Given the description of an element on the screen output the (x, y) to click on. 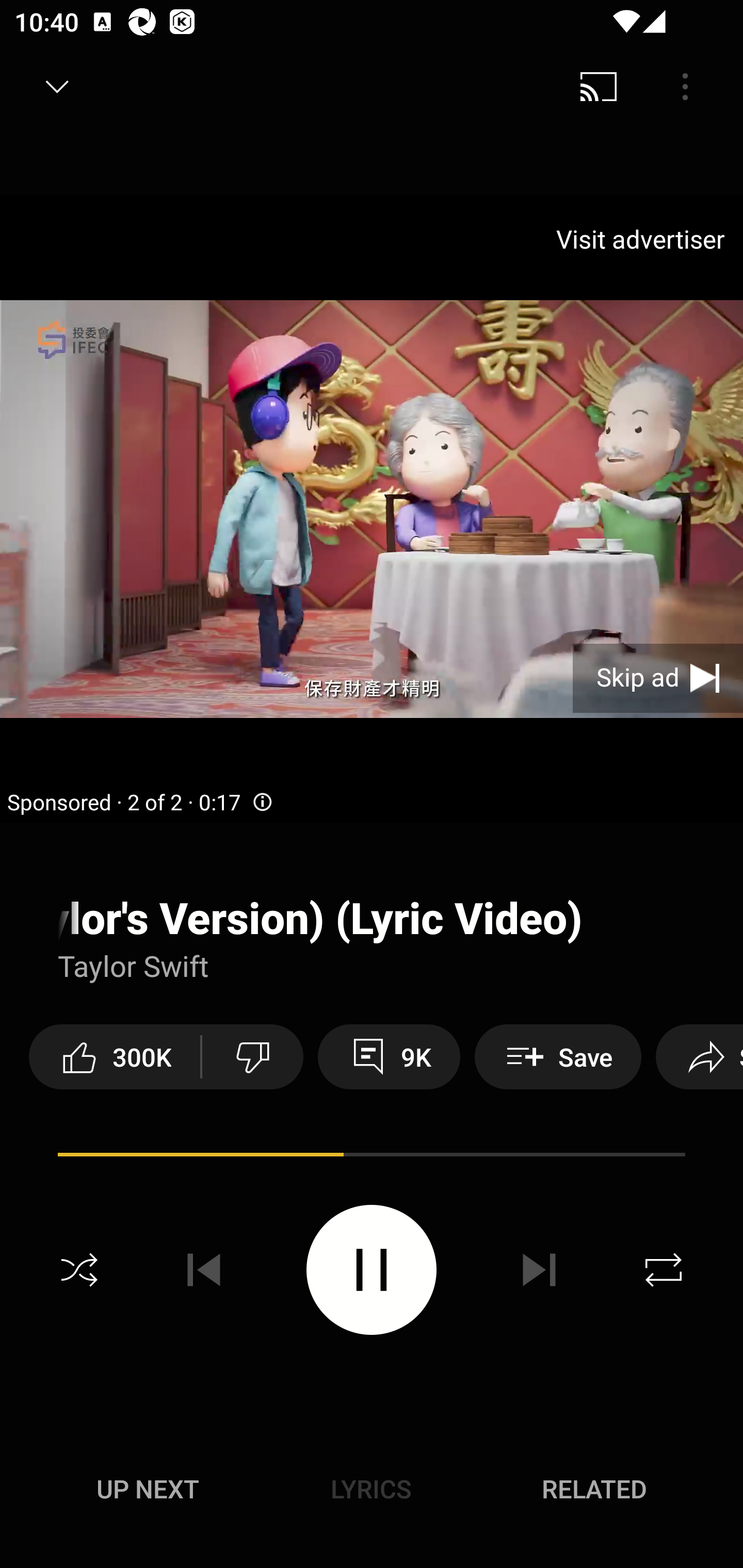
Minimize (57, 86)
Cast. Disconnected (598, 86)
Search (692, 86)
Visit advertiser (644, 239)
Skip ad (657, 678)
Sponsored · 2 of 2 · 0:17 (140, 802)
Dislike (252, 1056)
9K View 9,027 comments (388, 1056)
Save Save to playlist (557, 1056)
Share (699, 1056)
Pause video (371, 1269)
Shuffle off (79, 1269)
Previous track disabled (203, 1269)
Next track disabled (538, 1269)
Repeat off (663, 1269)
Up next UP NEXT Lyrics LYRICS Related RELATED (371, 1491)
Lyrics LYRICS (370, 1488)
Related RELATED (594, 1488)
